Given the description of an element on the screen output the (x, y) to click on. 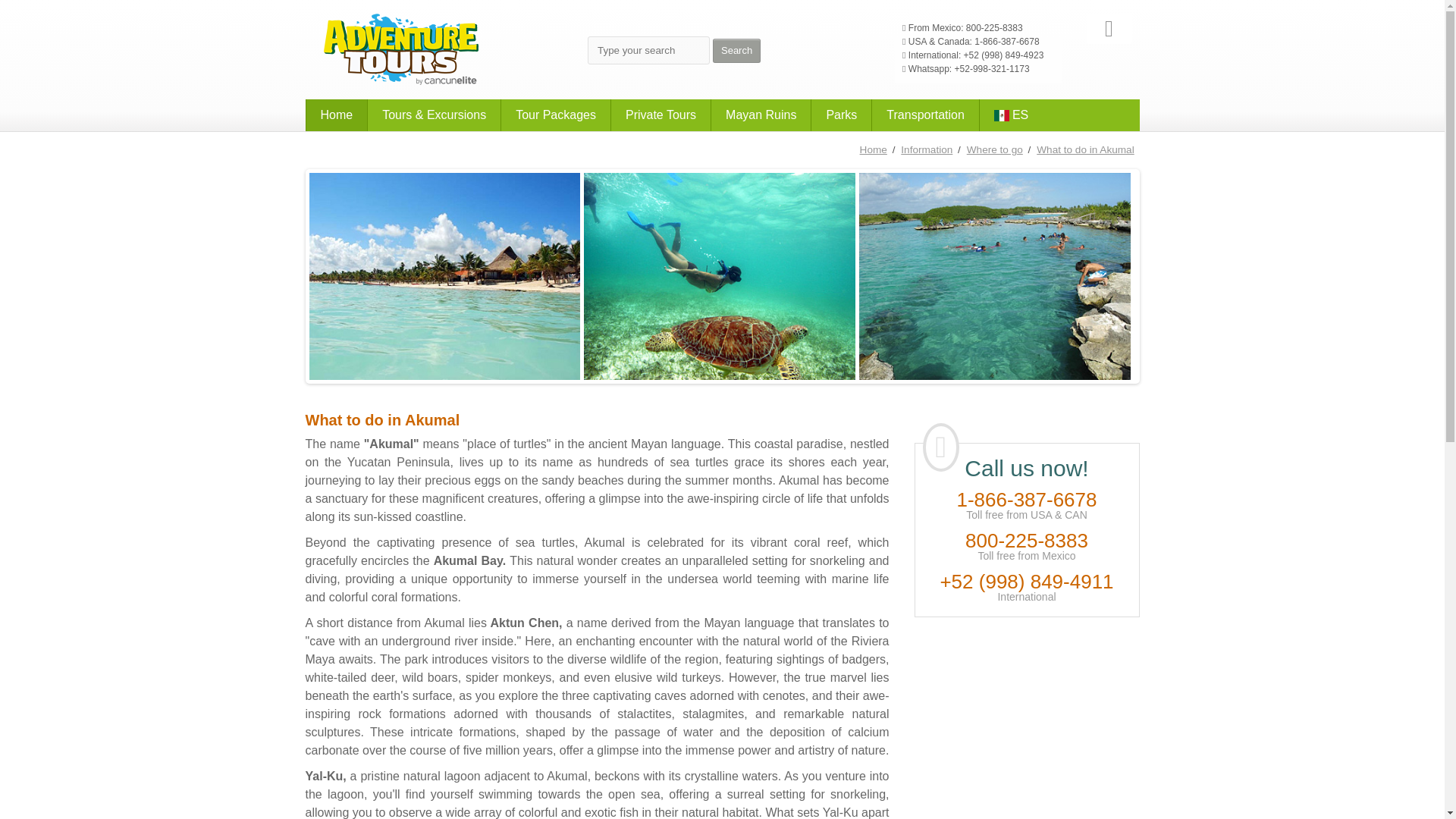
Transportation (924, 115)
Tours (433, 115)
Search (736, 50)
Ruins (760, 115)
Private (660, 115)
ES (1010, 115)
Search (736, 50)
Home (335, 115)
Home (335, 115)
What to do in Akumal (1085, 149)
